Given the description of an element on the screen output the (x, y) to click on. 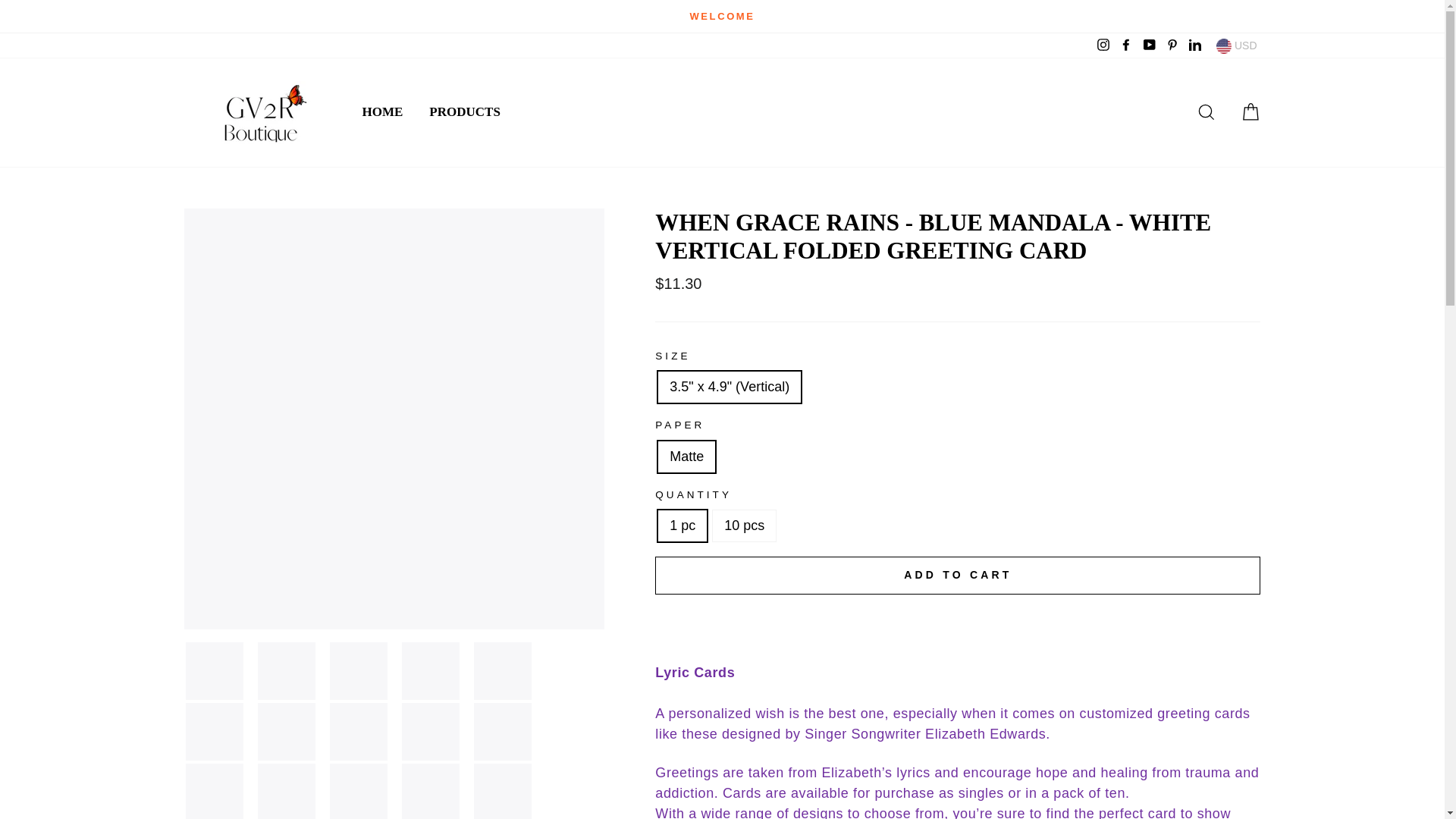
HOME (381, 112)
PRODUCTS (464, 112)
USD (1235, 45)
